Given the description of an element on the screen output the (x, y) to click on. 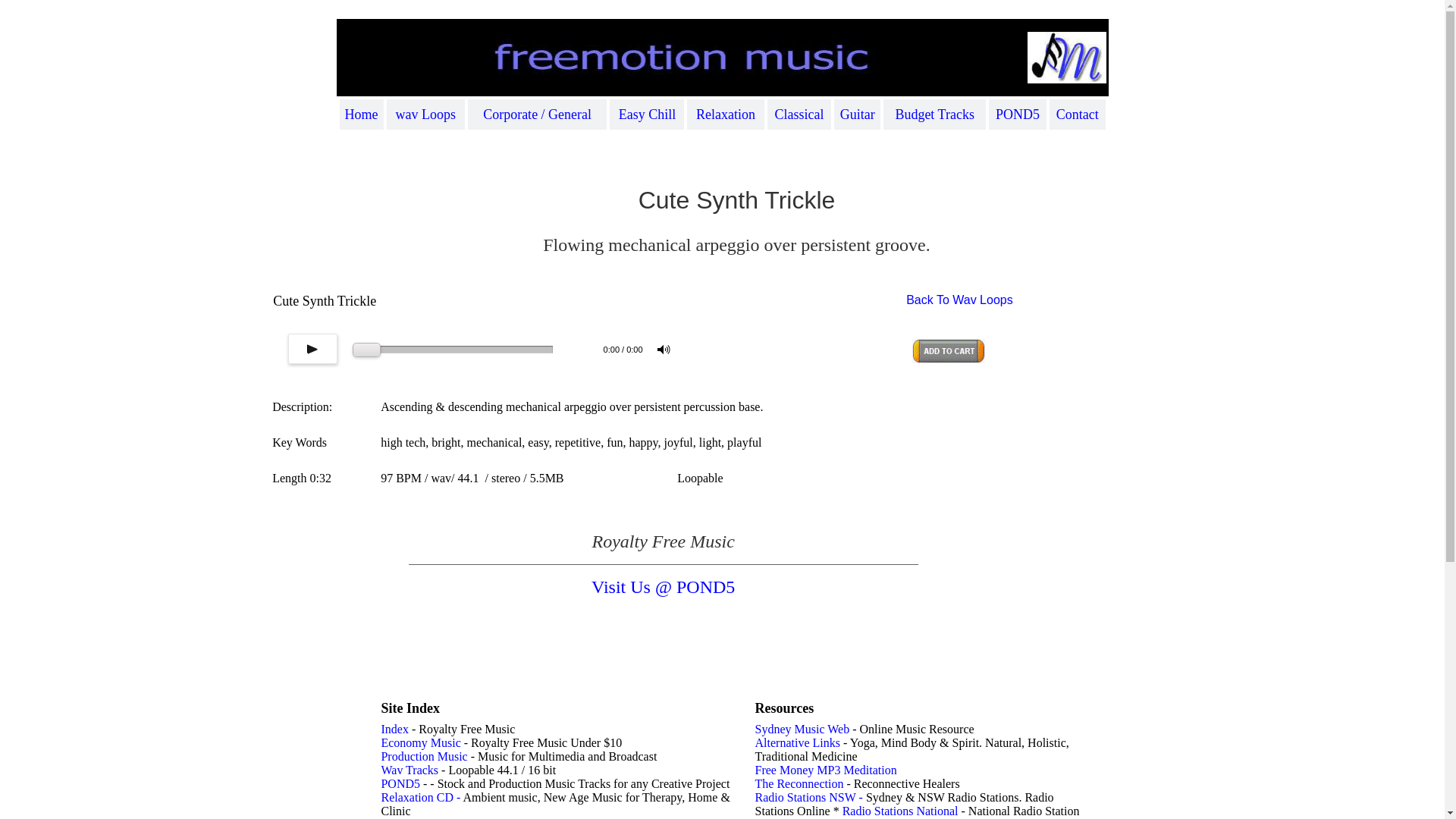
Easy Chill Element type: text (647, 113)
POND5 Element type: text (1017, 113)
Radio Stations NSW - Element type: text (810, 796)
POND5 Element type: text (400, 783)
- Element type: text (456, 796)
Budget Tracks Element type: text (934, 113)
Corporate / General Element type: text (537, 113)
Home Element type: text (361, 113)
Radio Stations National Element type: text (900, 810)
Alternative Links Element type: text (797, 742)
The Reconnection Element type: text (799, 783)
wav Loops Element type: text (425, 113)
Relaxation CD Element type: text (416, 796)
scrub timeline Element type: hover (452, 349)
Classical Element type: text (799, 113)
Economy Music Element type: text (420, 742)
Production Music  Element type: text (425, 755)
Back To Wav Loops Element type: text (959, 299)
Guitar Element type: text (857, 113)
Visit Us @ POND5 Element type: text (662, 586)
Contact Element type: text (1077, 113)
Index Element type: text (393, 728)
scrub timeline Element type: hover (366, 349)
Sydney Music Web Element type: text (802, 728)
Wav Tracks Element type: text (409, 769)
Free Money MP3 Meditation Element type: text (826, 769)
Relaxation Element type: text (725, 113)
